Given the description of an element on the screen output the (x, y) to click on. 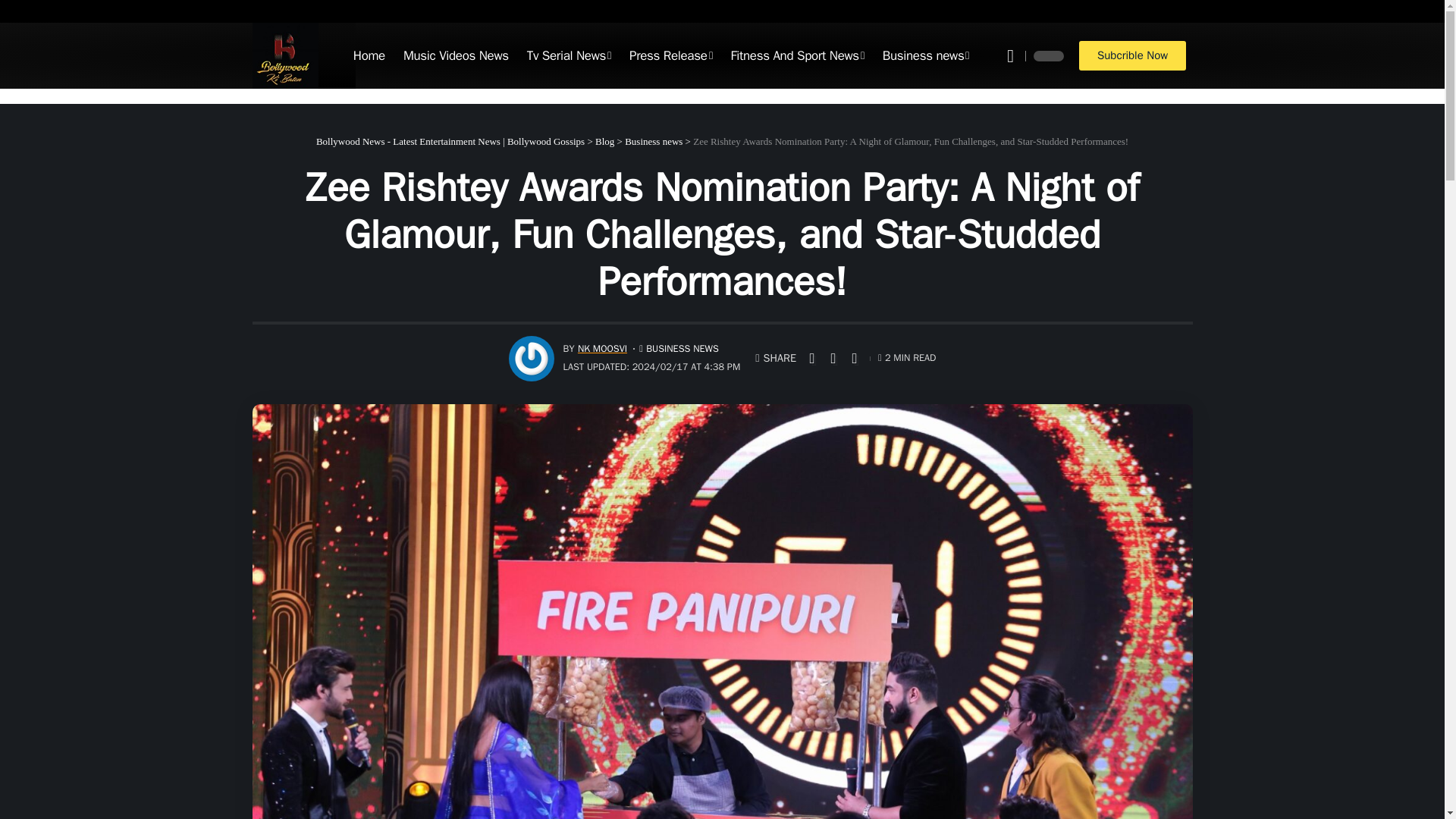
Go to the Business news Category archives. (653, 141)
Press Release (670, 55)
Business news (925, 55)
Tv Serial News (569, 55)
Music Videos News (456, 55)
Go to Blog. (604, 141)
Fitness And Sport News (796, 55)
Subcrible Now (1132, 55)
